Given the description of an element on the screen output the (x, y) to click on. 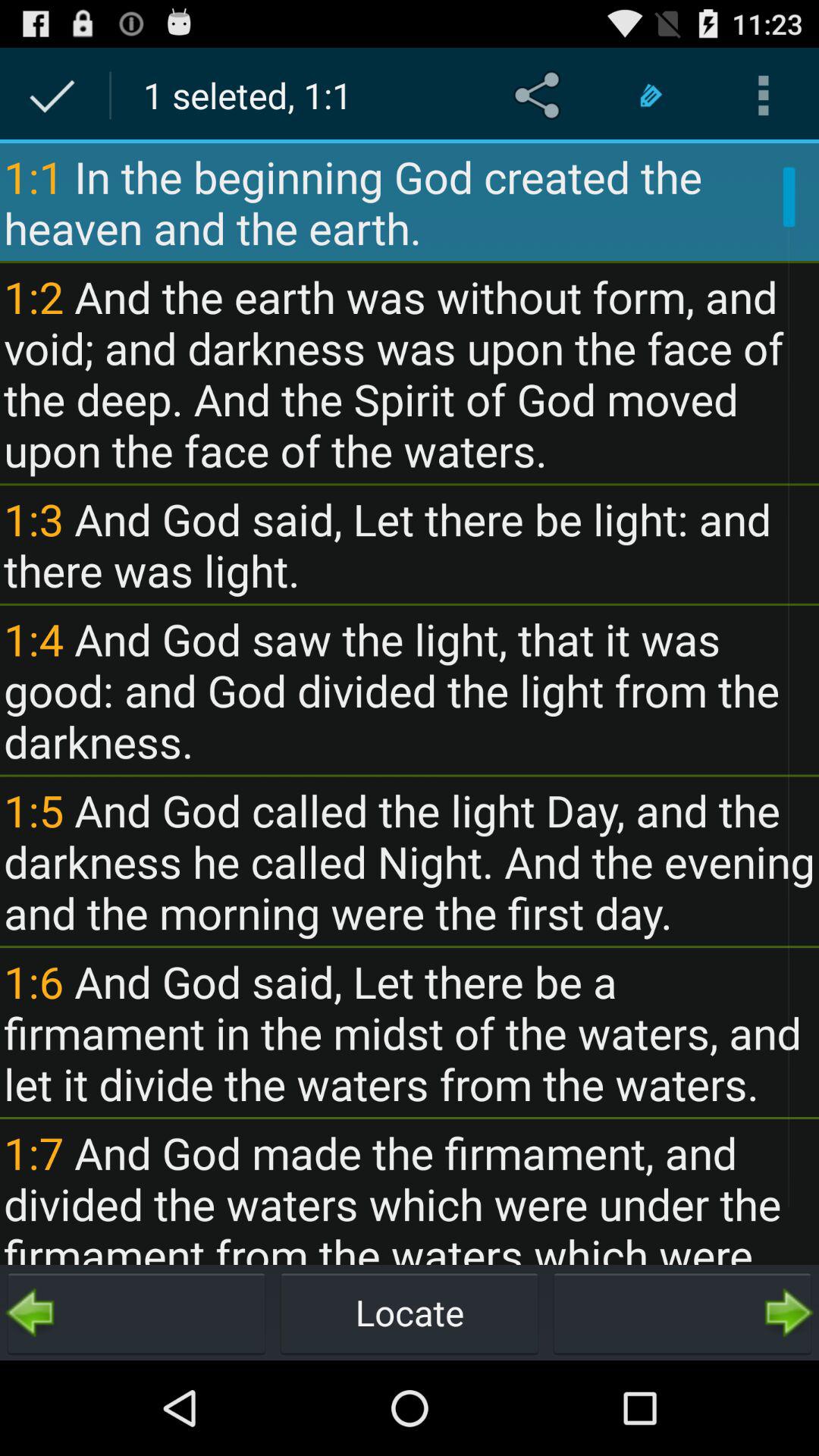
go next page (682, 1312)
